Given the description of an element on the screen output the (x, y) to click on. 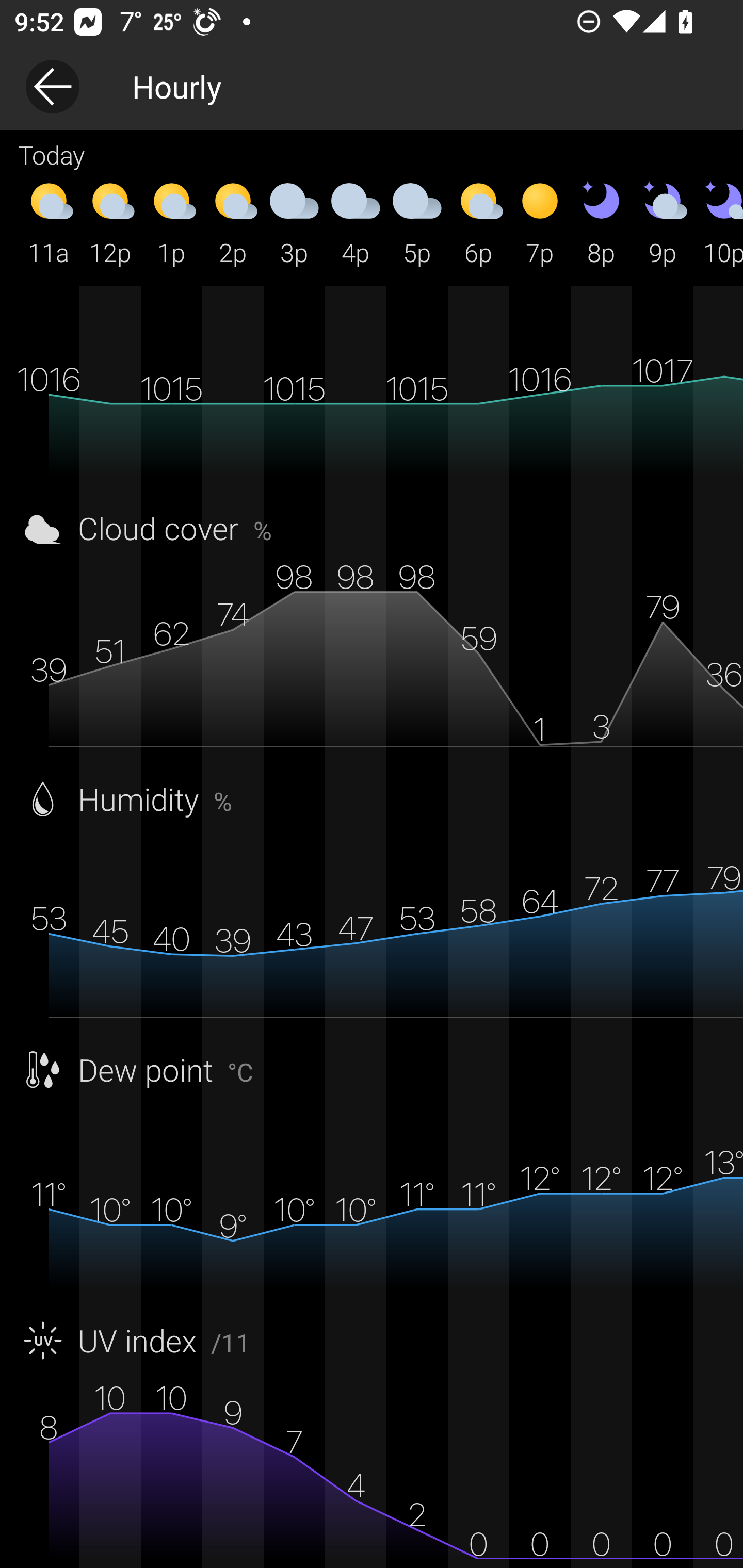
11a (48, 222)
12p (110, 222)
1p (171, 222)
2p (232, 222)
3p (294, 222)
4p (355, 222)
5p (417, 222)
6p (478, 222)
7p (539, 222)
8p (601, 222)
9p (662, 222)
10p (718, 222)
